Given the description of an element on the screen output the (x, y) to click on. 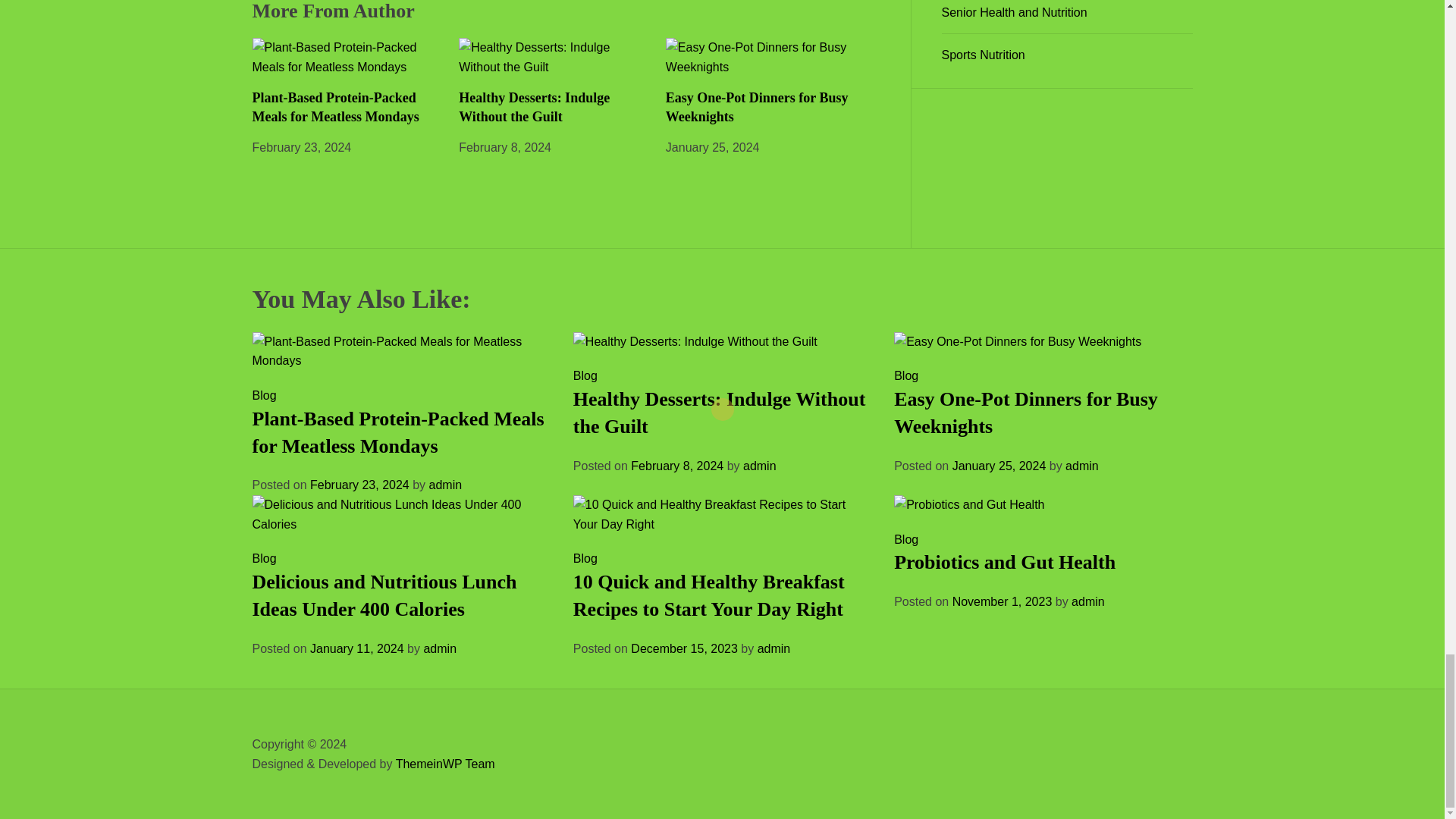
Healthy Desserts: Indulge Without the Guilt (534, 107)
Easy One-Pot Dinners for Busy Weeknights (756, 107)
Plant-Based Protein-Packed Meals for Meatless Mondays (335, 107)
